Given the description of an element on the screen output the (x, y) to click on. 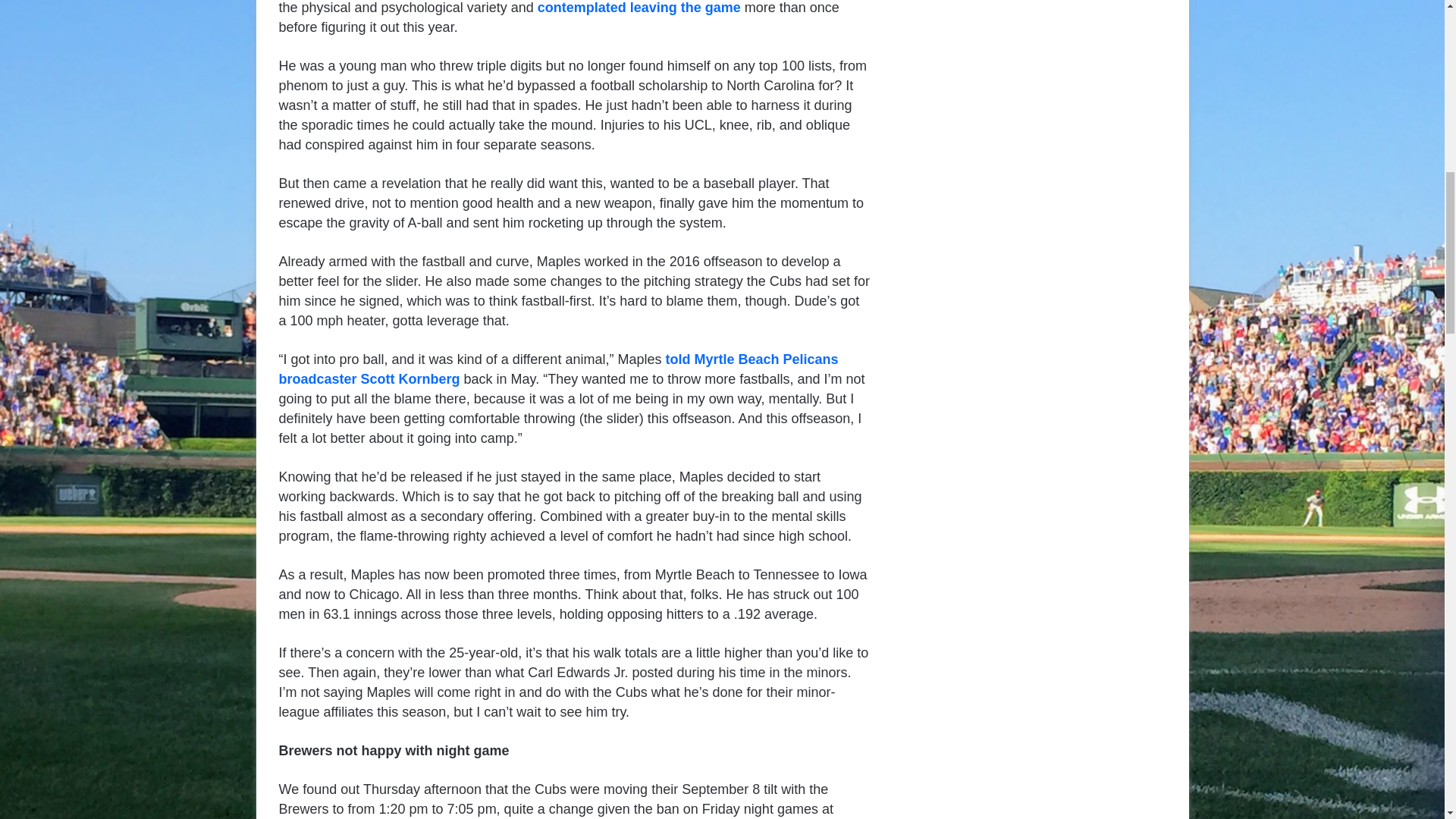
contemplated leaving the game (639, 7)
told Myrtle Beach Pelicans broadcaster Scott Kornberg (558, 369)
